Given the description of an element on the screen output the (x, y) to click on. 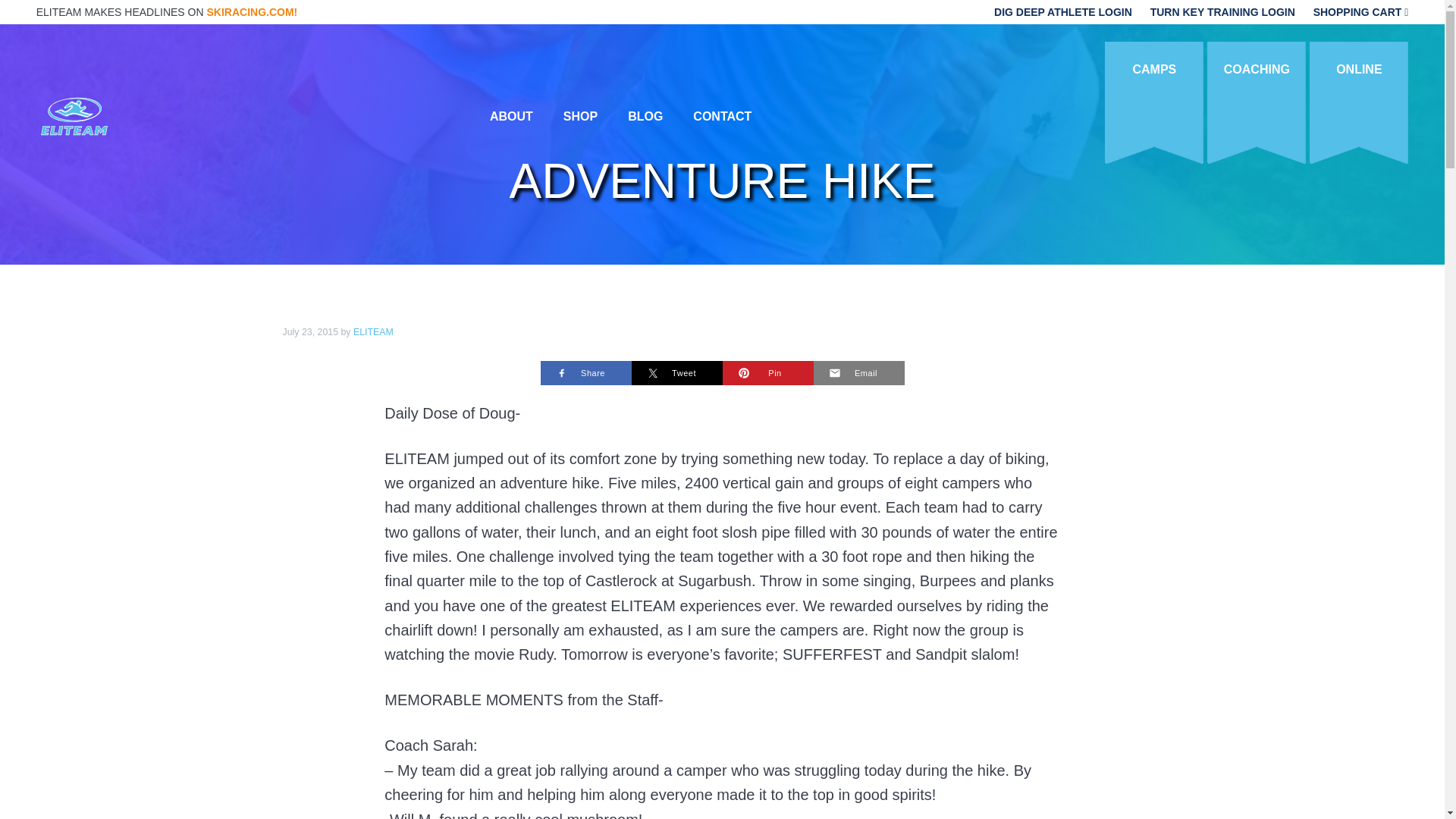
DIG DEEP ATHLETE LOGIN (1064, 11)
CAMPS (1154, 69)
TURN KEY TRAINING LOGIN (1222, 11)
ONLINE (1357, 69)
BLOG (645, 115)
SKIRACING.COM! (251, 11)
CONTACT (722, 115)
SHOPPING CART (1361, 11)
SHOP (580, 115)
ABOUT (511, 115)
COACHING (1256, 69)
ELITEAM (373, 331)
